Given the description of an element on the screen output the (x, y) to click on. 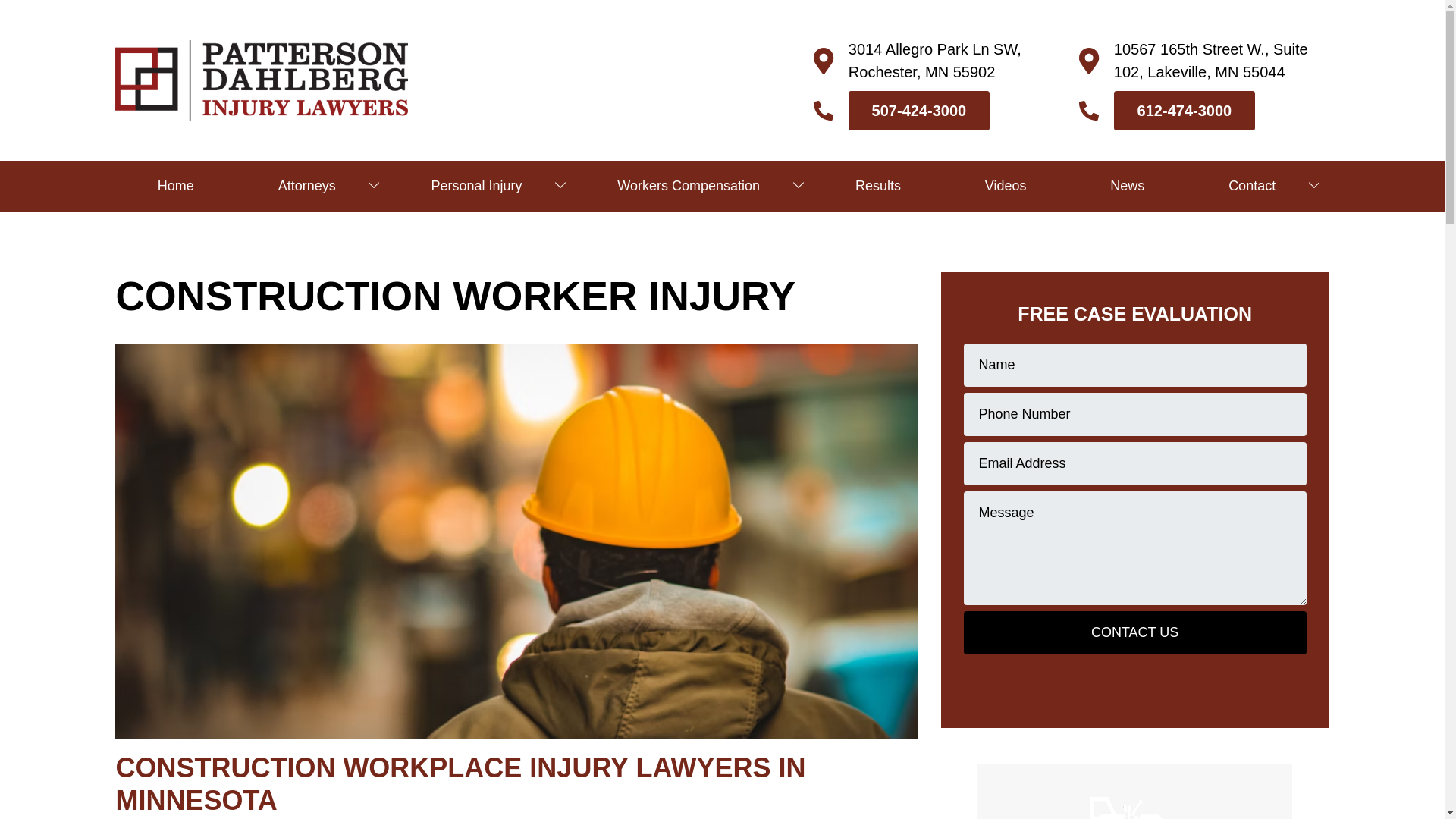
612-474-3000 (1184, 110)
Workers Compensation (694, 185)
News (1127, 185)
507-424-3000 (919, 110)
Contact us (1134, 632)
Videos (1005, 185)
Results (878, 185)
Personal Injury (481, 185)
Home (175, 185)
Contact (1257, 185)
Attorneys (311, 185)
